Given the description of an element on the screen output the (x, y) to click on. 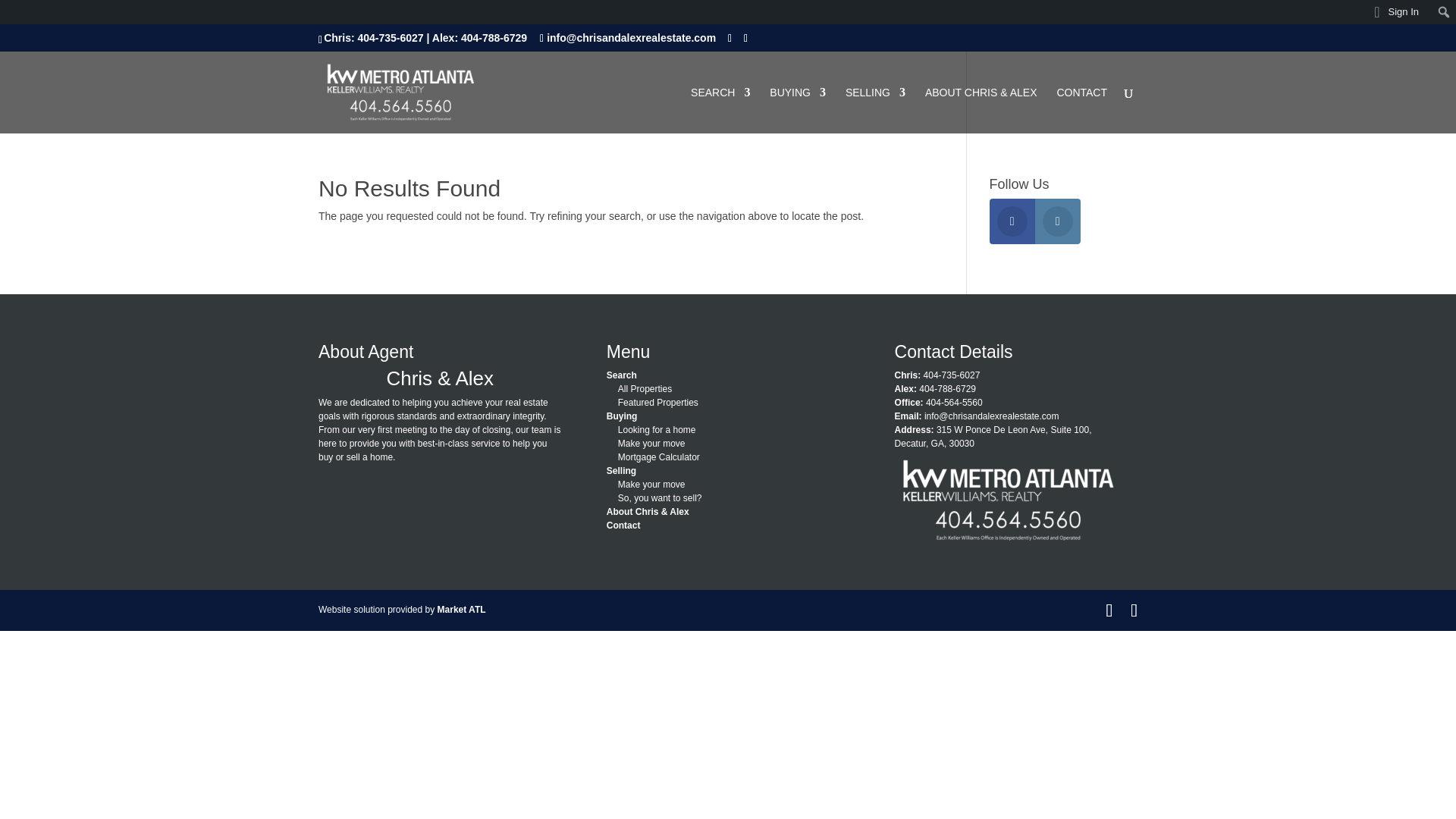
Featured Properties (657, 402)
Make your move (651, 443)
Search (622, 375)
SEARCH (719, 109)
All Properties (644, 388)
Sign In (1396, 12)
CONTACT (1081, 109)
SELLING (875, 109)
Sign In (1396, 12)
BUYING (797, 109)
Search (16, 13)
Buying (622, 416)
Looking for a home (656, 429)
